Given the description of an element on the screen output the (x, y) to click on. 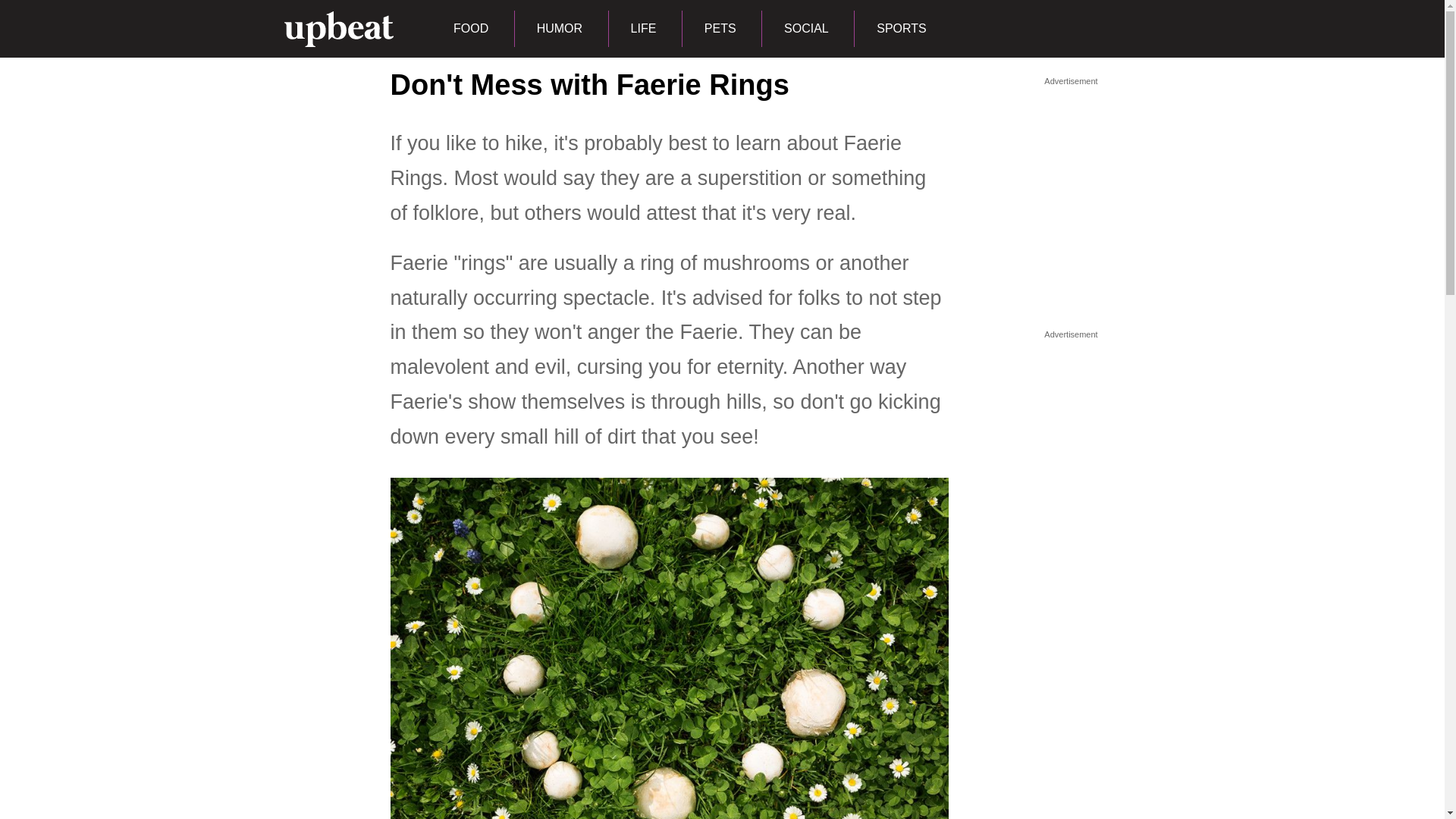
HUMOR (558, 28)
PETS (719, 28)
SOCIAL (805, 28)
SPORTS (901, 28)
LIFE (643, 28)
FOOD (470, 28)
